Given the description of an element on the screen output the (x, y) to click on. 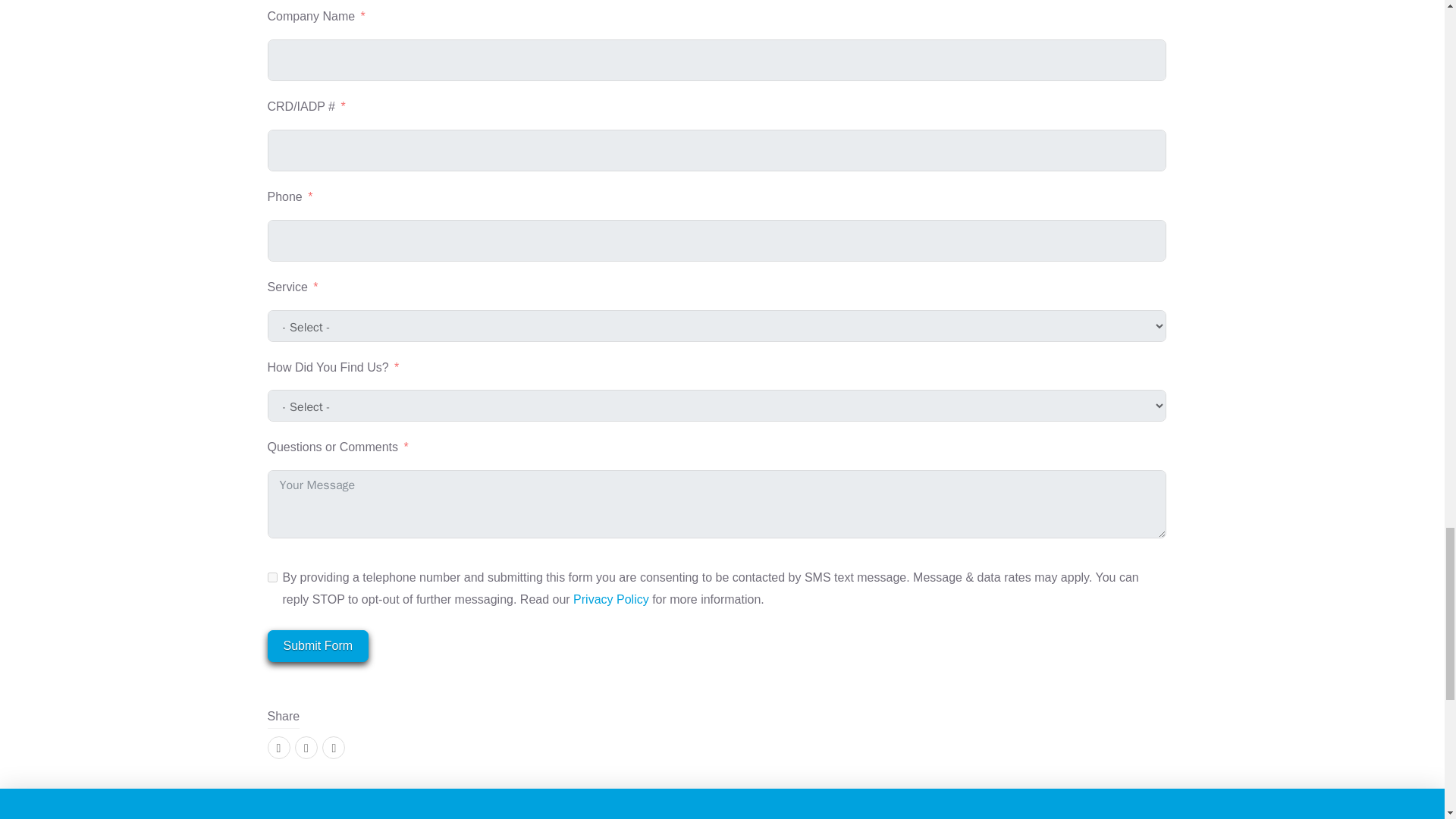
on (271, 576)
Facebook (277, 747)
LinkedIn (333, 747)
Twitter (306, 747)
